Given the description of an element on the screen output the (x, y) to click on. 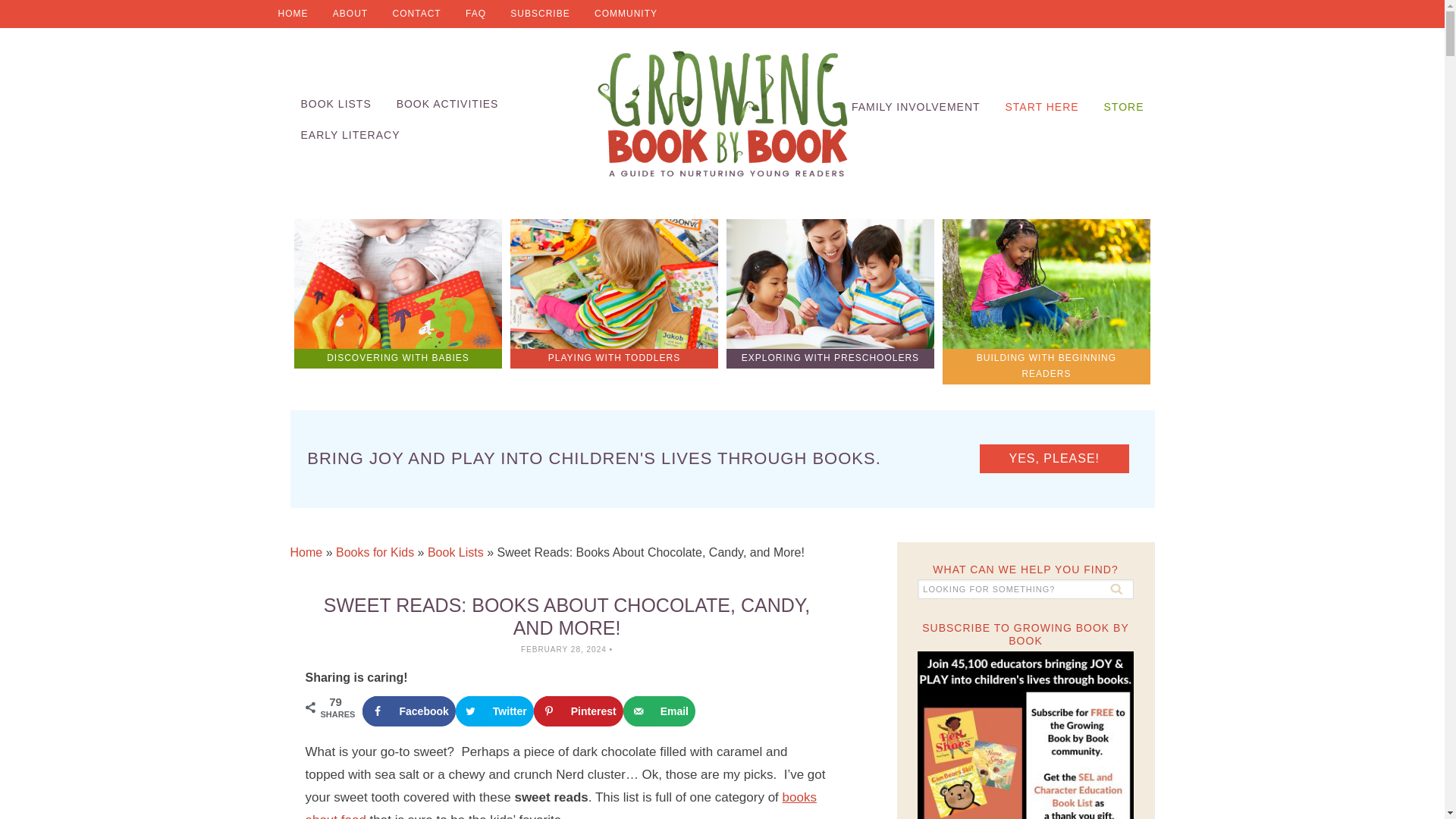
FAQ (475, 13)
Send over email (659, 711)
Share on Twitter (494, 711)
HOME (292, 13)
CONTACT (416, 13)
Save to Pinterest (578, 711)
START HERE (1041, 106)
GROWING BOOK BY BOOK (721, 113)
BOOK ACTIVITIES (447, 103)
FAMILY INVOLVEMENT (916, 106)
